Given the description of an element on the screen output the (x, y) to click on. 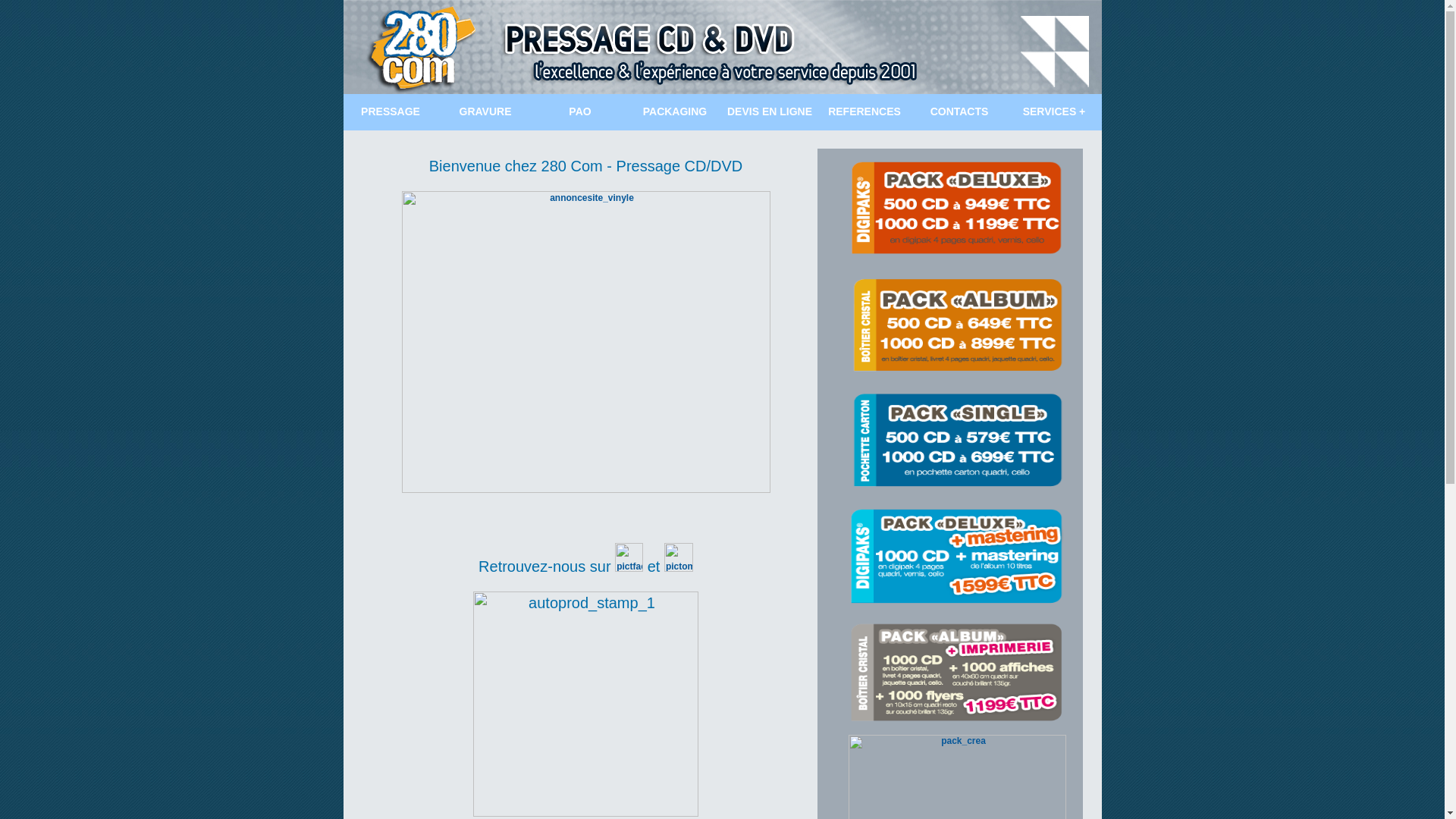
myspace280com Element type: hover (678, 568)
Pack_album_1000 Element type: hover (956, 556)
PRESSAGE Element type: text (389, 112)
REFERENCES Element type: text (864, 112)
facebook280com Element type: hover (629, 568)
SERVICES + Element type: text (1054, 112)
pictfacebook Element type: hover (629, 556)
PAO Element type: text (579, 112)
annoncesite_vinyle Element type: hover (585, 341)
DEVIS EN LIGNE Element type: text (768, 112)
GRAVURE Element type: text (485, 112)
Pack_album_JB_ok Element type: hover (956, 672)
Pack_single_1000 Element type: hover (956, 440)
PACKAGING Element type: text (674, 112)
CONTACTS Element type: text (958, 112)
Pack_silver Element type: hover (956, 324)
pictomyspace Element type: hover (678, 556)
Pack_deluxe_1000 Element type: hover (957, 209)
autoprod_stamp_1 Element type: hover (585, 703)
devis Element type: hover (585, 489)
